Given the description of an element on the screen output the (x, y) to click on. 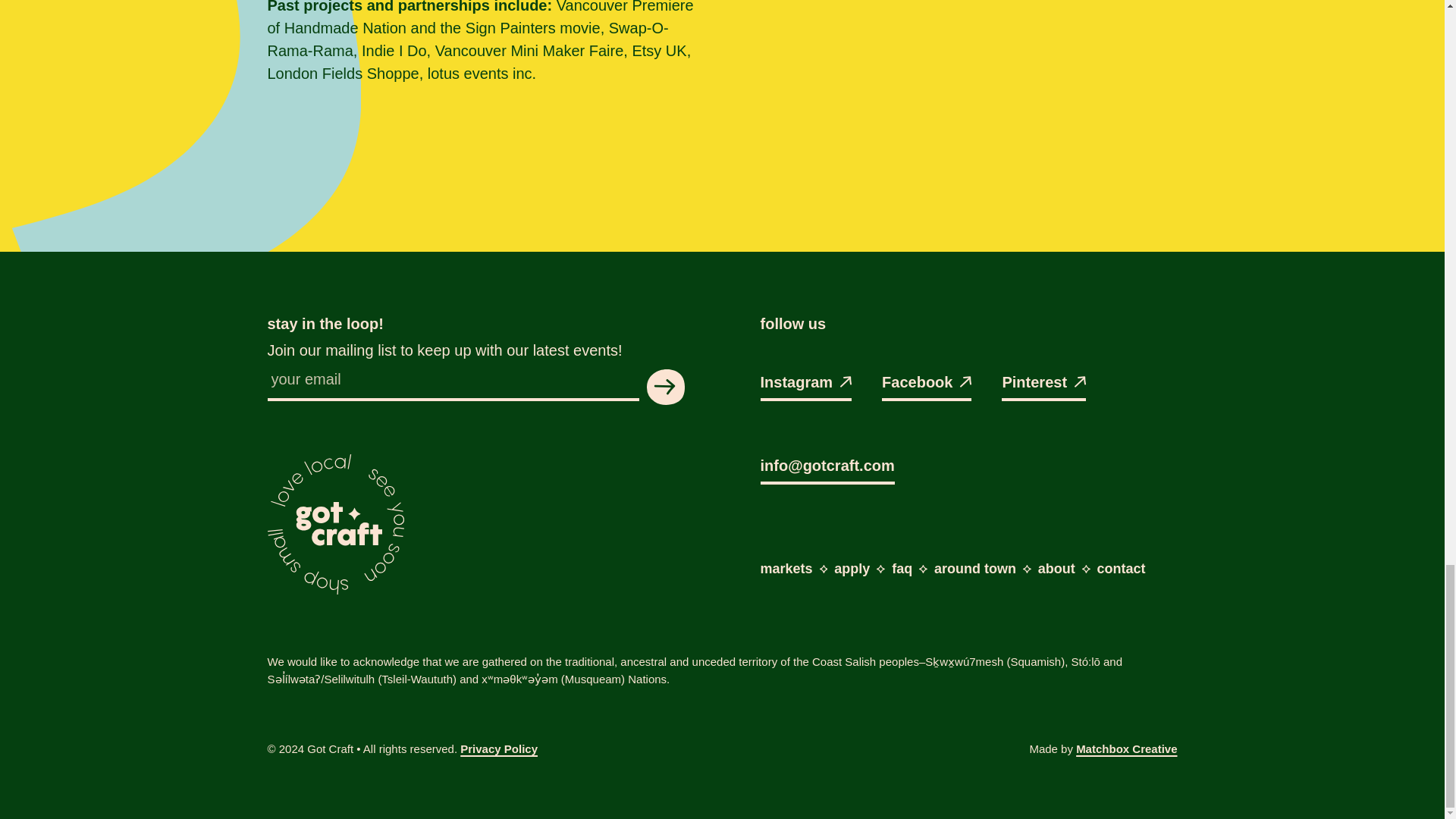
faq (901, 568)
Matchbox Creative (1125, 748)
Facebook (926, 386)
markets (786, 568)
Privacy Policy (498, 748)
around town (975, 568)
apply (851, 568)
about (1056, 568)
Instagram (805, 386)
contact (1121, 568)
